Given the description of an element on the screen output the (x, y) to click on. 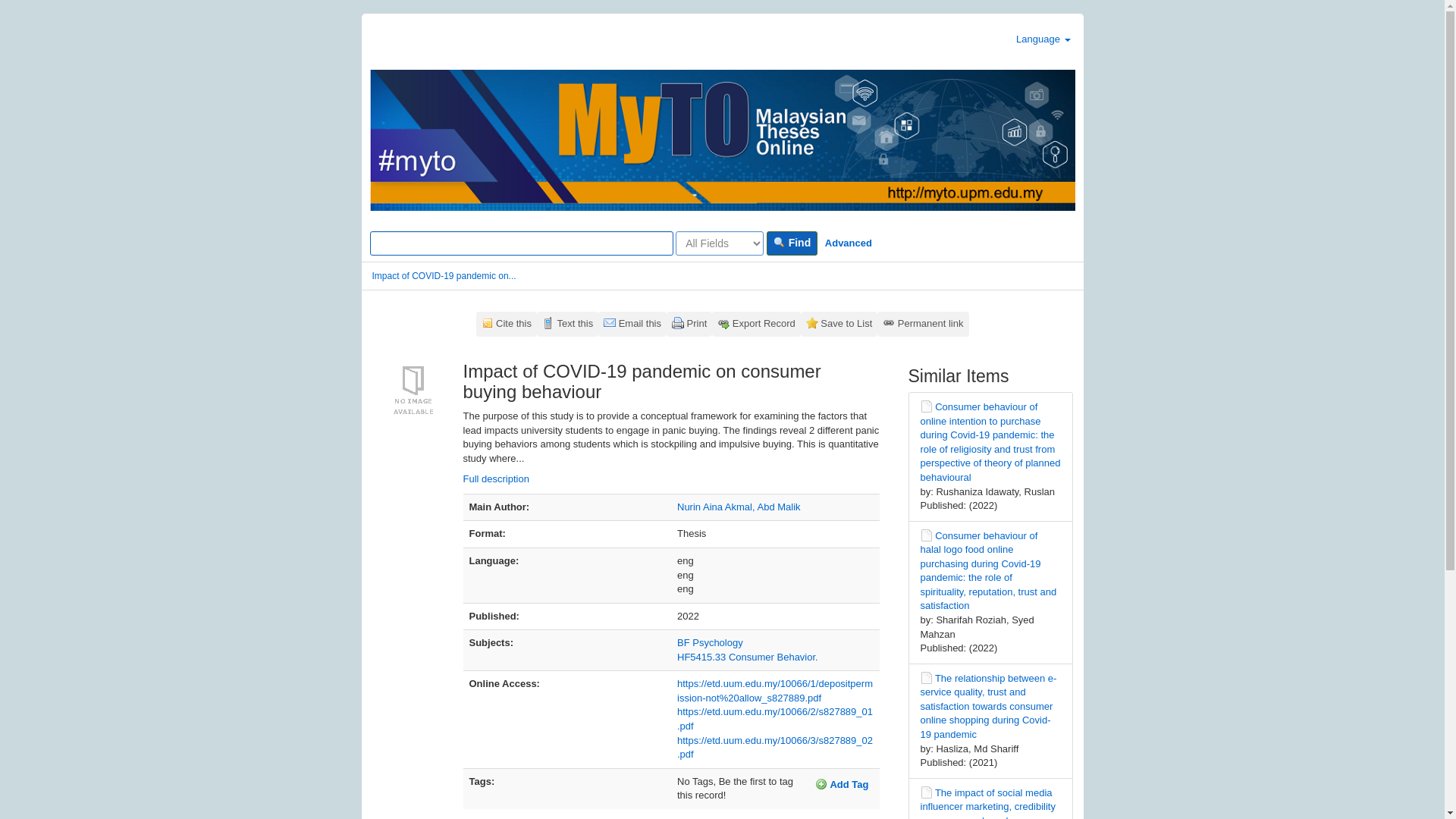
BF Psychology (709, 642)
Skip to content (32, 20)
Language (1042, 39)
Cite this (506, 324)
Impact of COVID-19 pandemic on... (443, 276)
BF Psychology (709, 642)
Thesis (926, 677)
Email this (632, 324)
Thesis (926, 792)
Nurin Aina Akmal, Abd Malik (738, 506)
Find (791, 242)
Thesis (926, 406)
Print (688, 324)
